Given the description of an element on the screen output the (x, y) to click on. 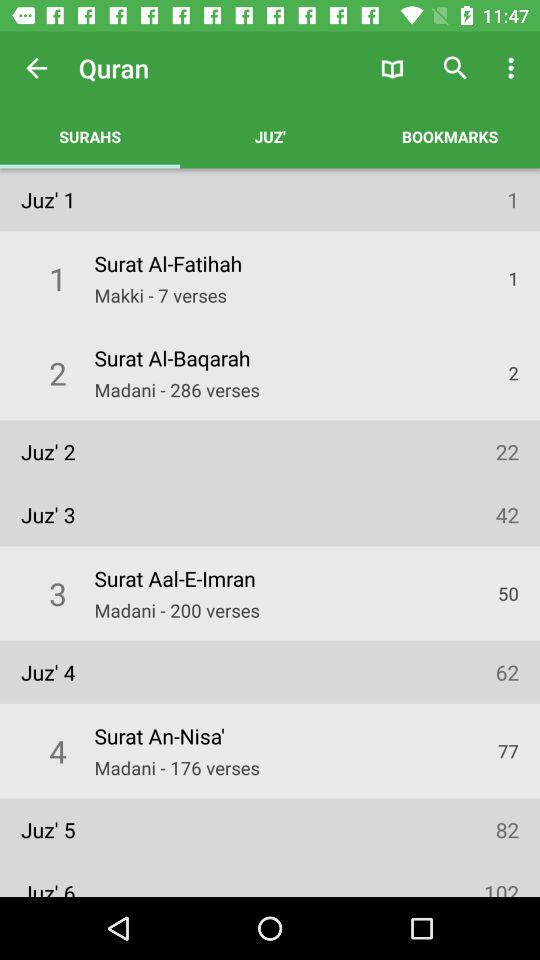
choose the app to the right of the juz' icon (450, 136)
